Given the description of an element on the screen output the (x, y) to click on. 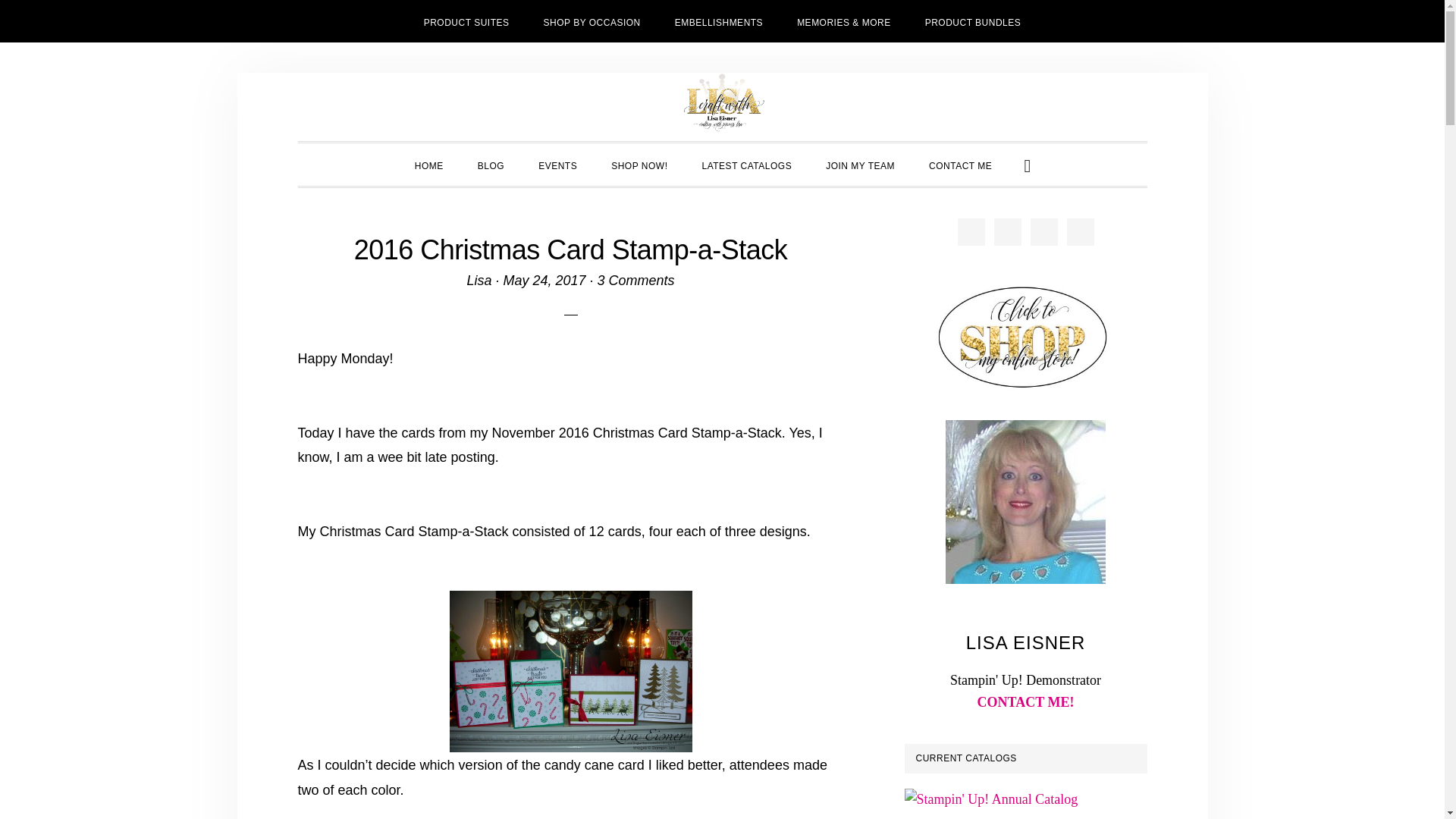
EVENTS (557, 164)
LATEST CATALOGS (747, 164)
JOIN MY TEAM (860, 164)
PRODUCT BUNDLES (973, 21)
CONTACT ME (960, 164)
SHOP BY OCCASION (591, 21)
PRODUCT SUITES (466, 21)
LISA EISNER - STAMPIN' UP! DEMONSTRATOR (721, 102)
BLOG (491, 164)
